Given the description of an element on the screen output the (x, y) to click on. 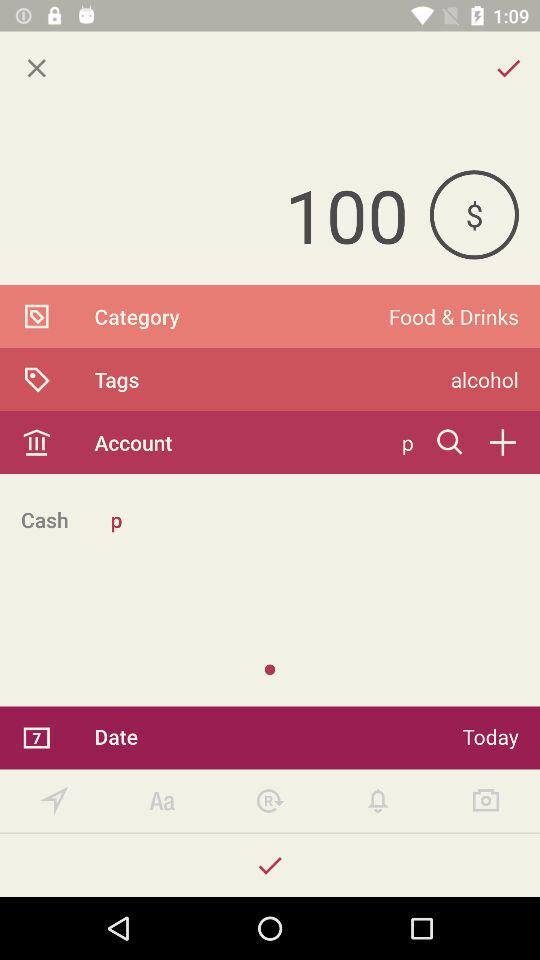
turn on notification (378, 800)
